Given the description of an element on the screen output the (x, y) to click on. 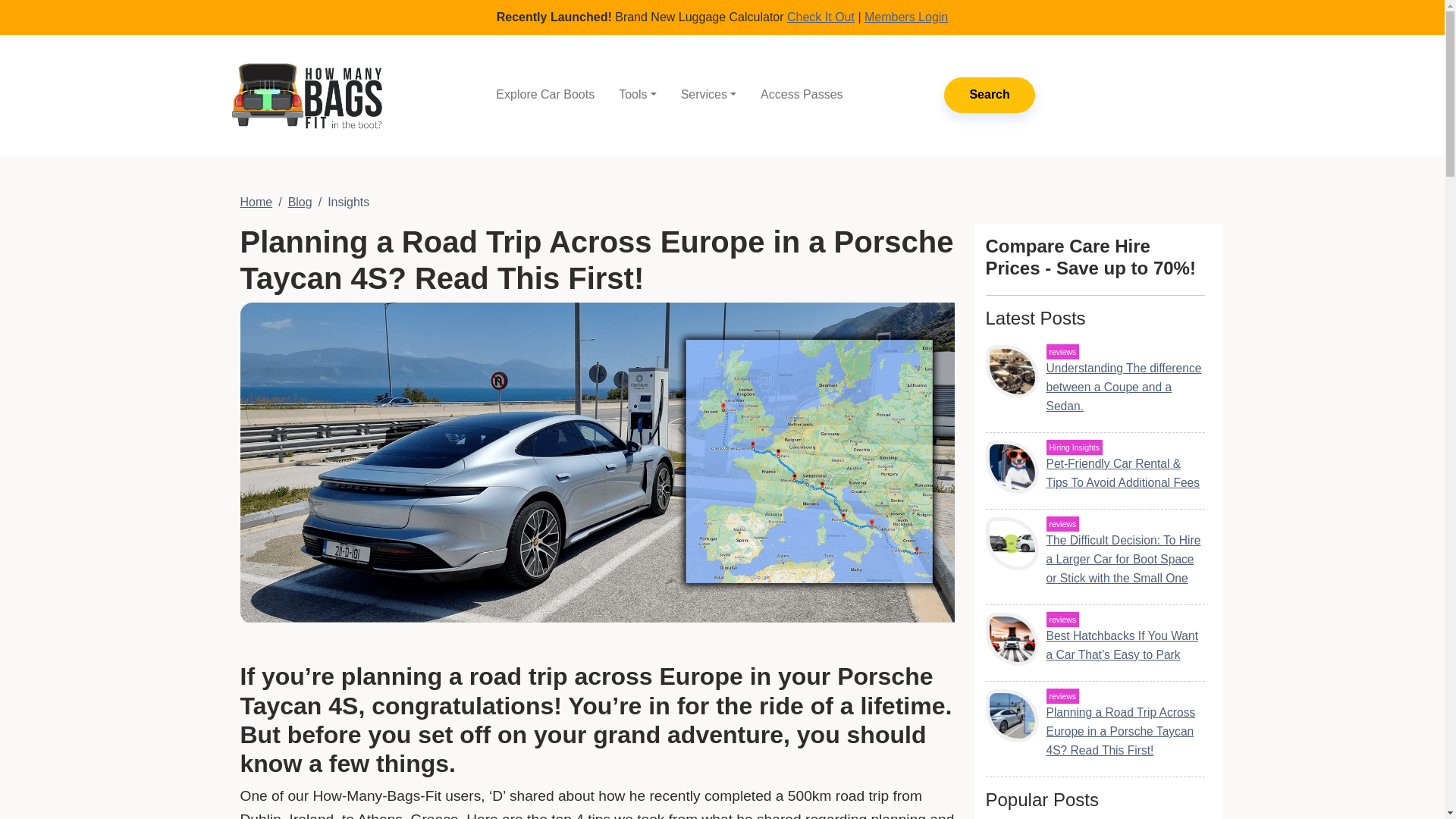
Explore Car Boots (545, 94)
Members Login (905, 16)
Home (256, 201)
Search (988, 94)
Understanding The difference between a Coupe and a Sedan. (1124, 386)
Check It Out (820, 16)
Access Passes (801, 94)
Tools (637, 94)
